Given the description of an element on the screen output the (x, y) to click on. 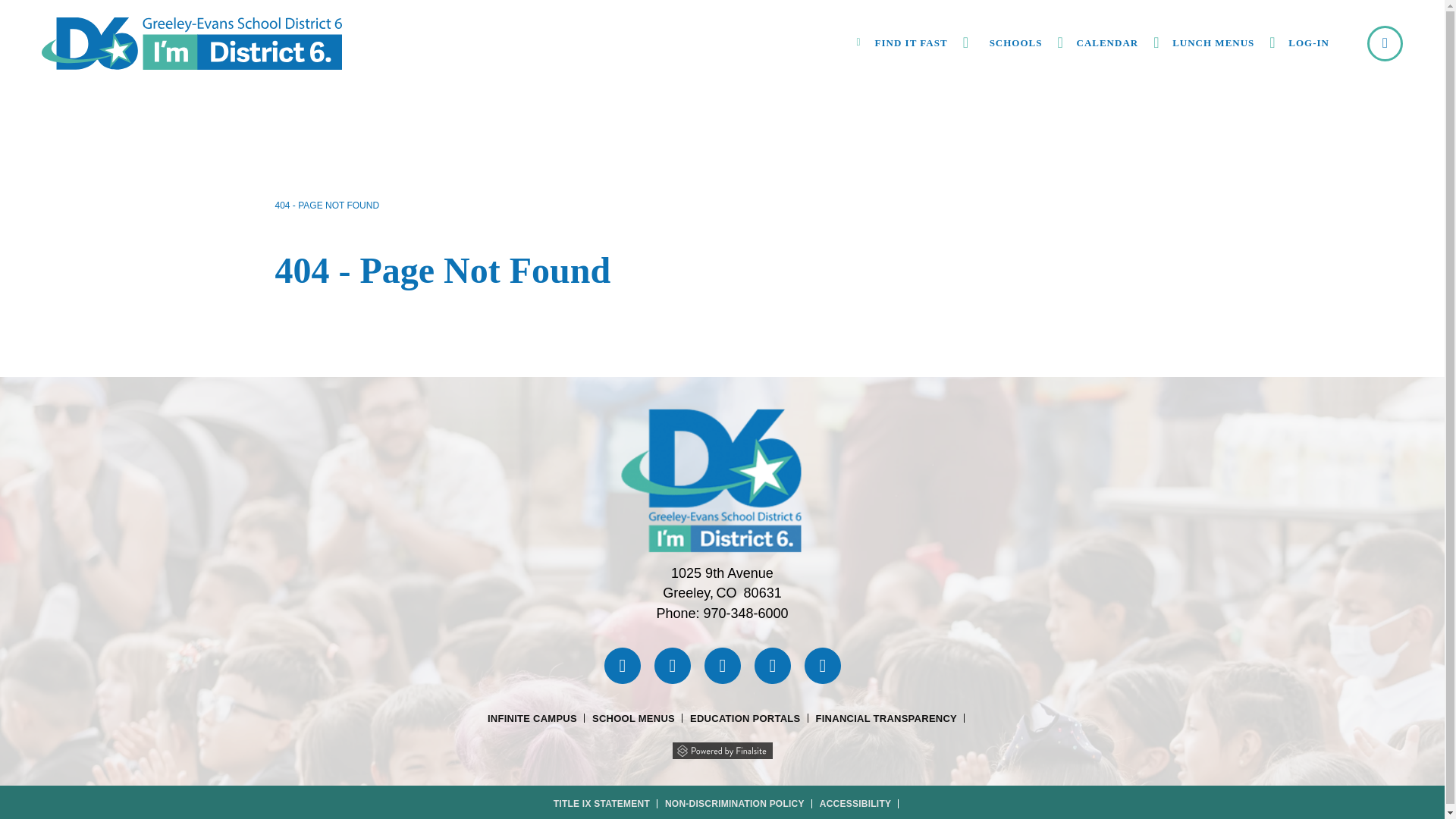
Powered by Finalsite opens in a new window (721, 748)
